Given the description of an element on the screen output the (x, y) to click on. 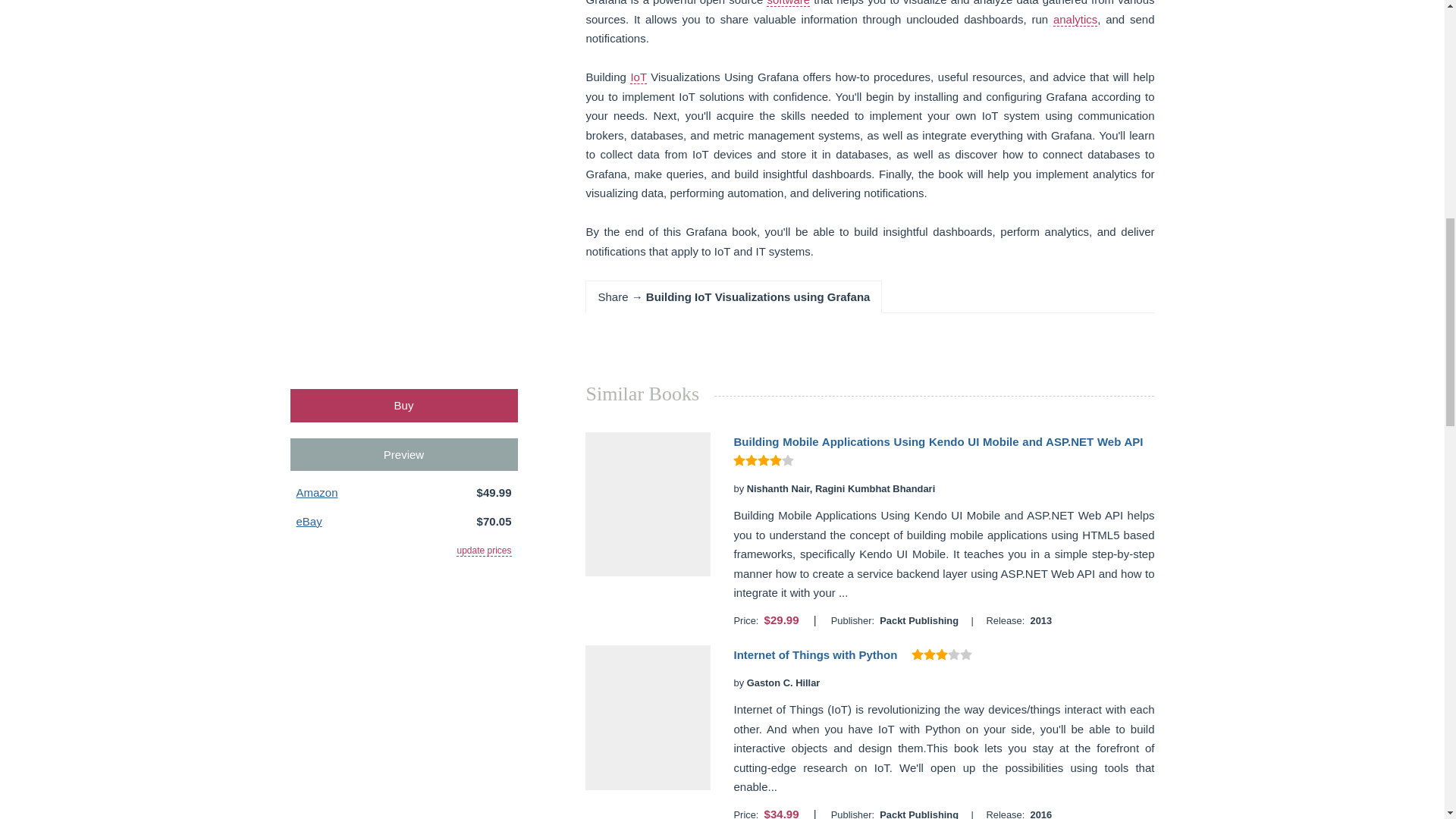
Internet of Things with Python (814, 654)
Amazon (316, 492)
Software Books (788, 3)
Buy (402, 405)
Buy (402, 405)
Analytics Books (1074, 19)
eBay (308, 521)
Preview (402, 454)
analytics (1074, 19)
update prices (484, 550)
Preview (402, 454)
IoT (638, 77)
software (788, 3)
